Given the description of an element on the screen output the (x, y) to click on. 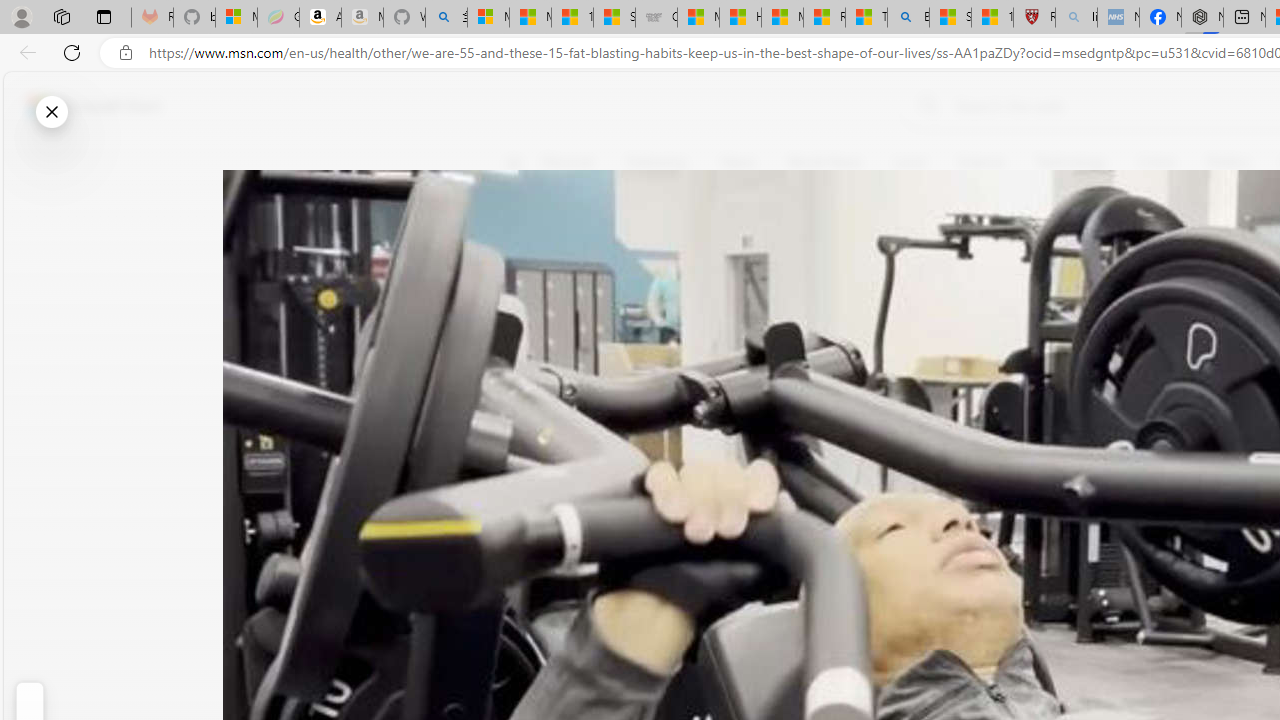
Share this story (525, 412)
Recipes - MSN (823, 17)
